Given the description of an element on the screen output the (x, y) to click on. 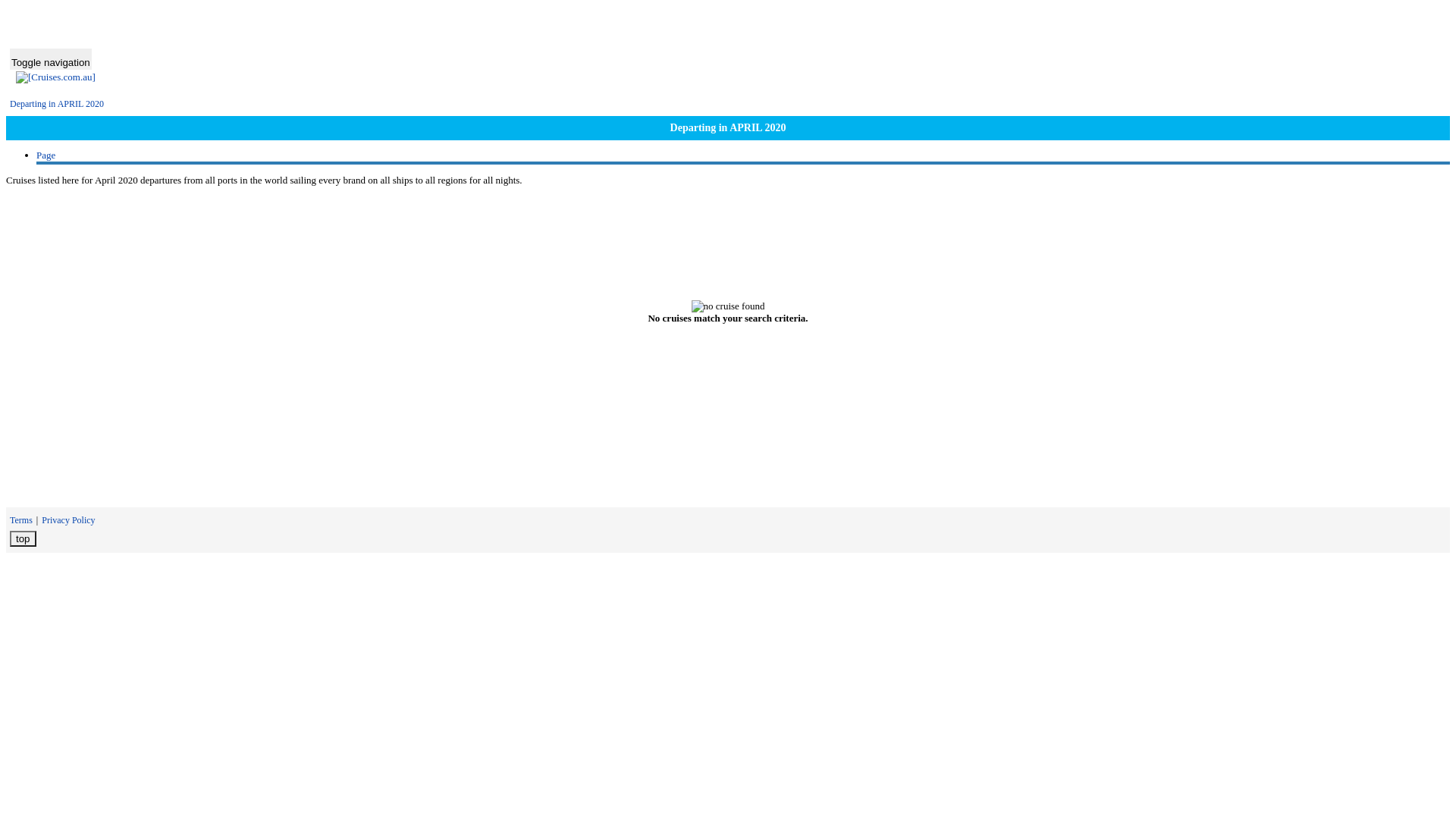
top Element type: text (22, 538)
[Ozcruising.com.au]-no cruise found Element type: hover (728, 306)
Departing in APRIL 2020 Element type: text (56, 103)
Page Element type: text (45, 154)
Privacy Policy Element type: text (67, 519)
Toggle navigation Element type: text (50, 58)
Terms Element type: text (20, 519)
